Given the description of an element on the screen output the (x, y) to click on. 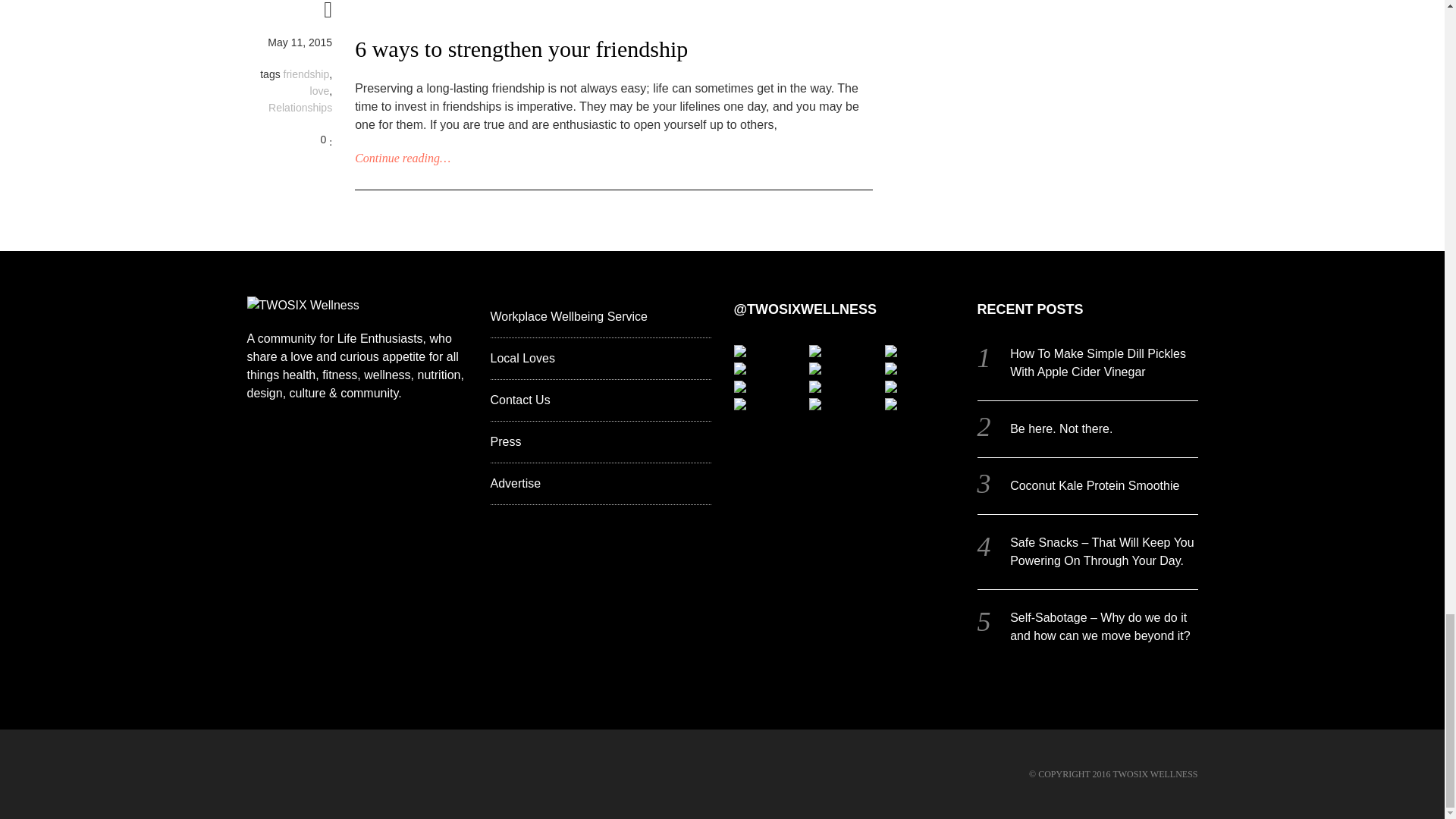
Now this is something to live by Were going tohellip (815, 368)
internationalwomensday girlpower whorunstheworld (815, 350)
Start your morning with a smile some stretches and 3hellip (889, 368)
Always mix business with pleasure food hellip (739, 350)
